Given the description of an element on the screen output the (x, y) to click on. 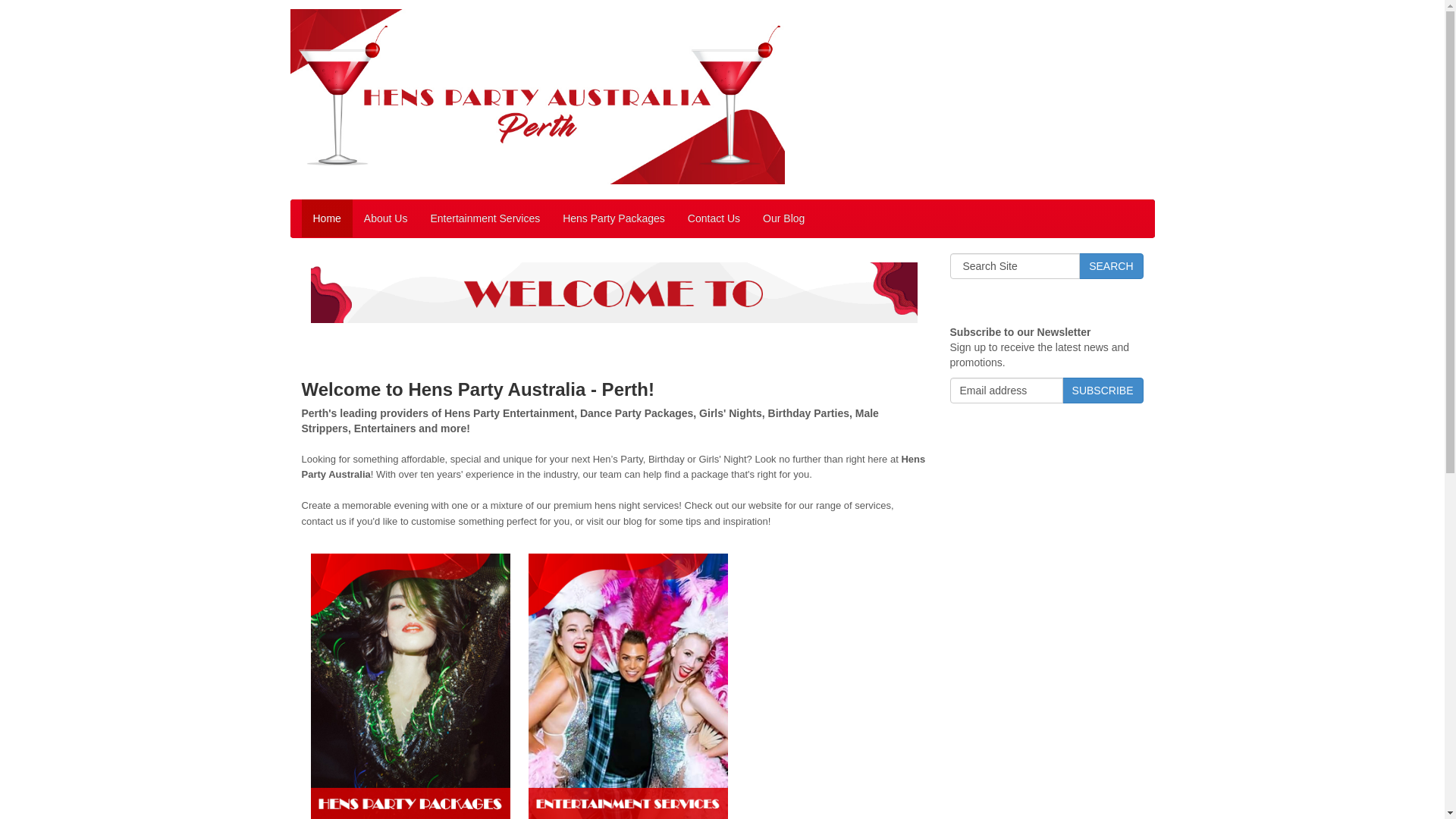
Hens Party Packages Element type: text (613, 218)
SEARCH Element type: text (1110, 266)
About Us Element type: text (385, 218)
SUBSCRIBE Element type: text (1102, 390)
Contact Us Element type: text (713, 218)
Entertainment Services Element type: text (484, 218)
Our Blog Element type: text (783, 218)
Home Element type: text (326, 218)
